Given the description of an element on the screen output the (x, y) to click on. 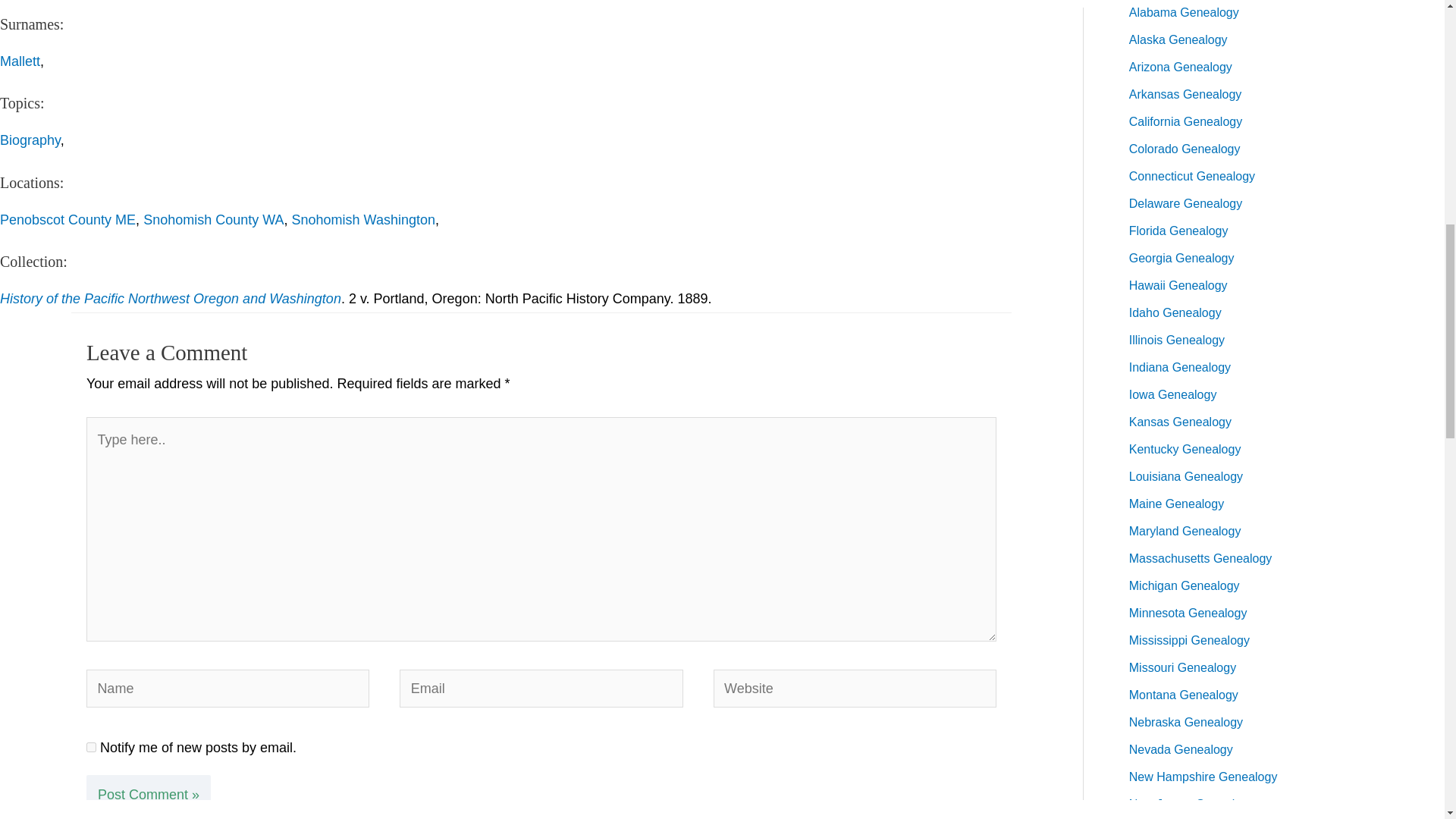
Snohomish Washington (363, 219)
Biography (30, 140)
Alaska Genealogy (1178, 39)
Mallett (20, 61)
Arizona Genealogy (1180, 66)
Arkansas Genealogy (1185, 93)
Alaska Genealogy (1178, 39)
History of the Pacific Northwest Oregon and Washington (170, 298)
California Genealogy (1185, 121)
Arkansas Genealogy (1185, 93)
